Given the description of an element on the screen output the (x, y) to click on. 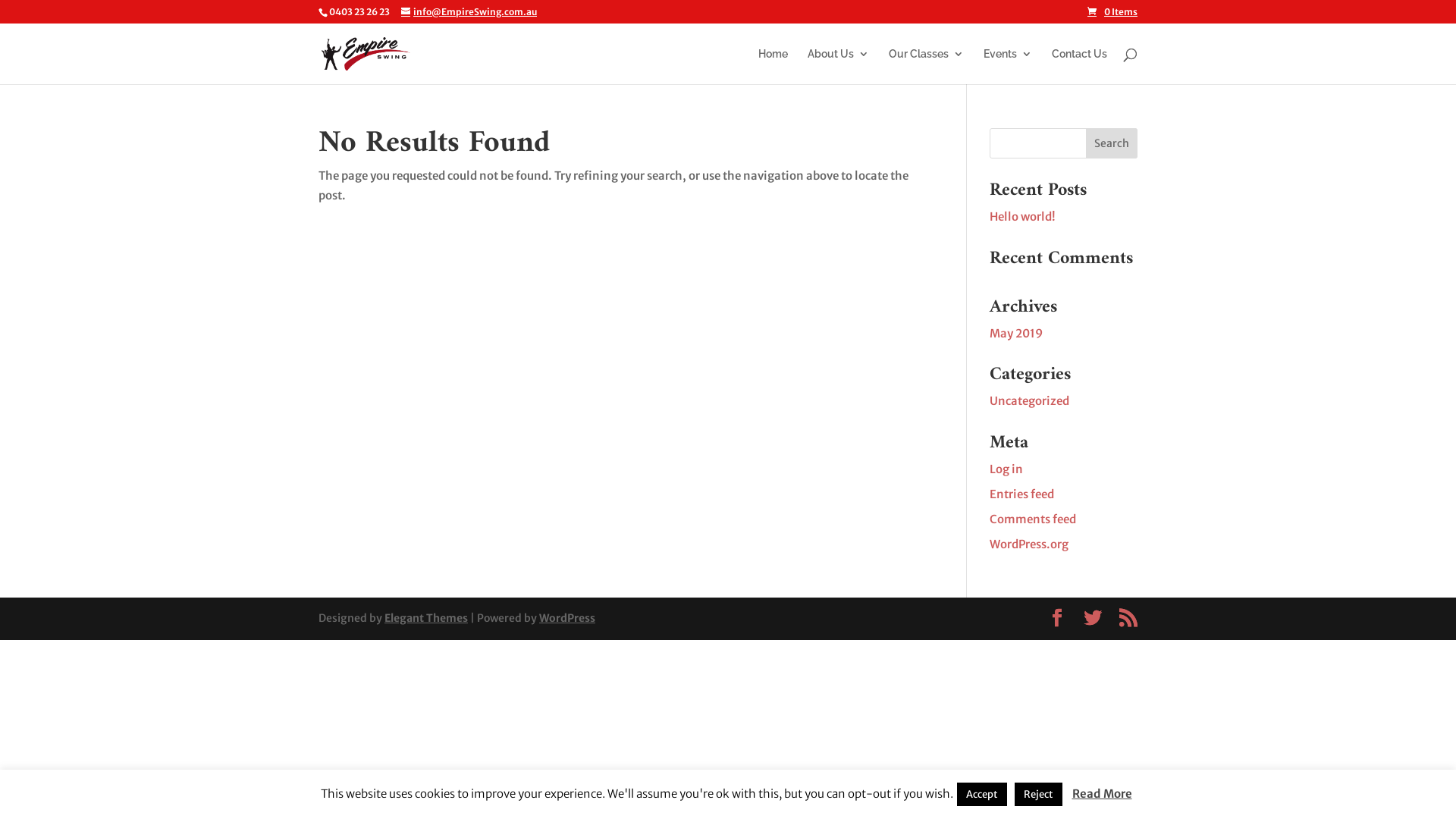
0 Items Element type: text (1112, 11)
info@EmpireSwing.com.au Element type: text (468, 11)
Comments feed Element type: text (1032, 518)
Our Classes Element type: text (925, 66)
Reject Element type: text (1038, 794)
May 2019 Element type: text (1015, 333)
Home Element type: text (772, 66)
Contact Us Element type: text (1079, 66)
Events Element type: text (1007, 66)
Search Element type: text (1111, 143)
WordPress Element type: text (567, 617)
About Us Element type: text (838, 66)
Log in Element type: text (1005, 468)
Entries feed Element type: text (1021, 493)
Read More Element type: text (1102, 793)
Uncategorized Element type: text (1029, 400)
Accept Element type: text (982, 794)
Hello world! Element type: text (1022, 216)
Elegant Themes Element type: text (425, 617)
WordPress.org Element type: text (1028, 543)
